Given the description of an element on the screen output the (x, y) to click on. 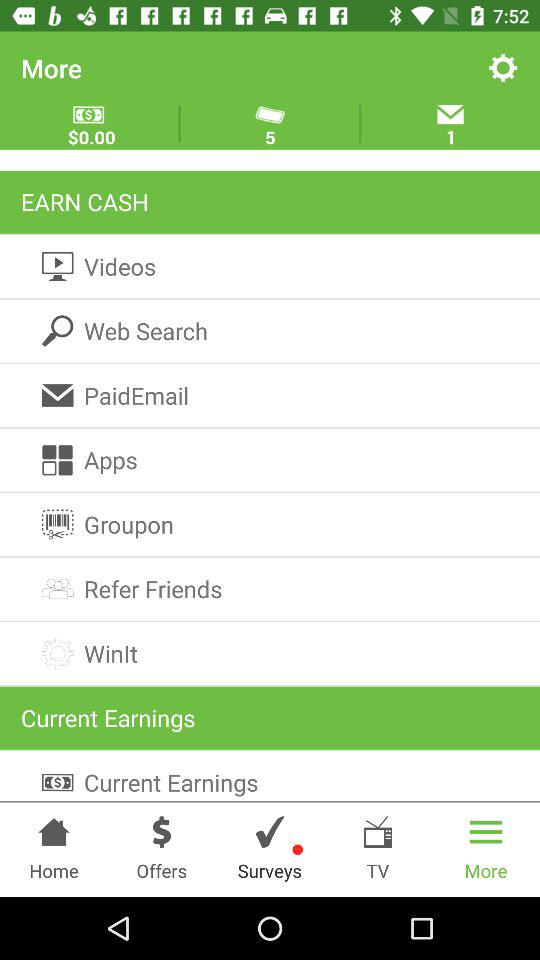
choose the item above refer friends icon (270, 524)
